Given the description of an element on the screen output the (x, y) to click on. 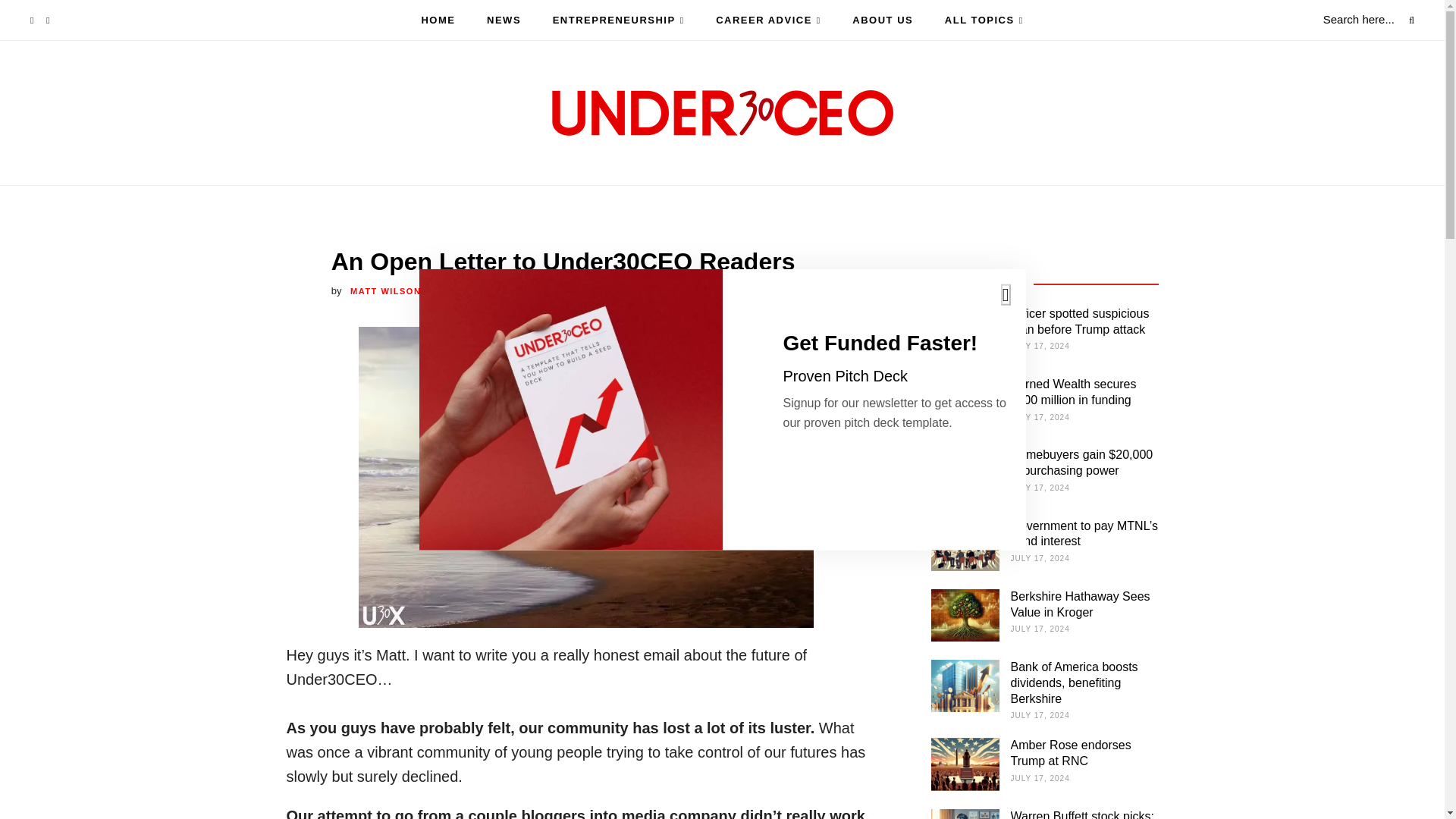
CAREER ADVICE (768, 20)
ALL TOPICS (983, 20)
ABOUT US (881, 20)
Posts by Matt Wilson (385, 290)
ENTREPRENEURSHIP (618, 20)
